Given the description of an element on the screen output the (x, y) to click on. 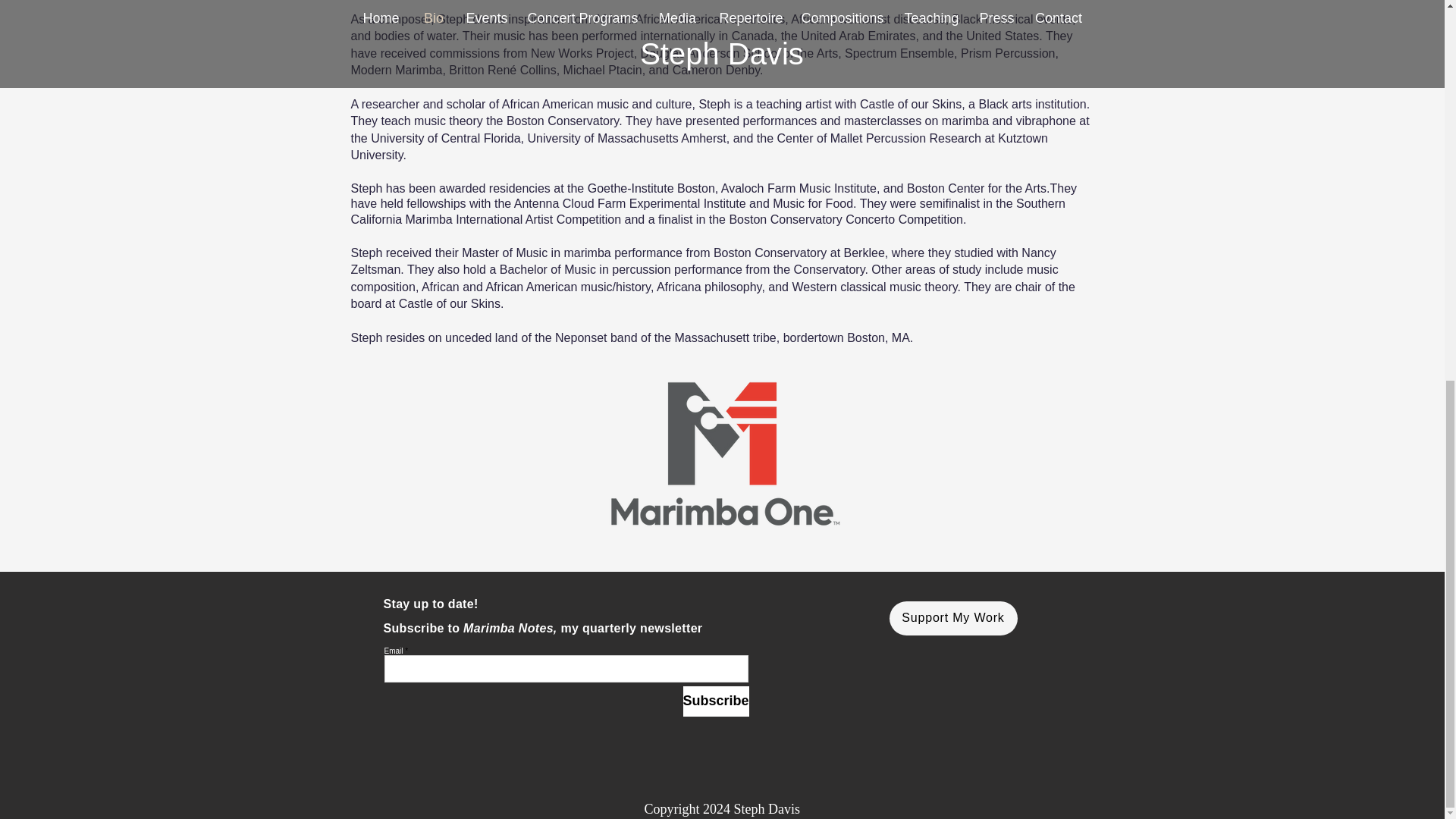
Subscribe (715, 701)
Support My Work (952, 618)
